Given the description of an element on the screen output the (x, y) to click on. 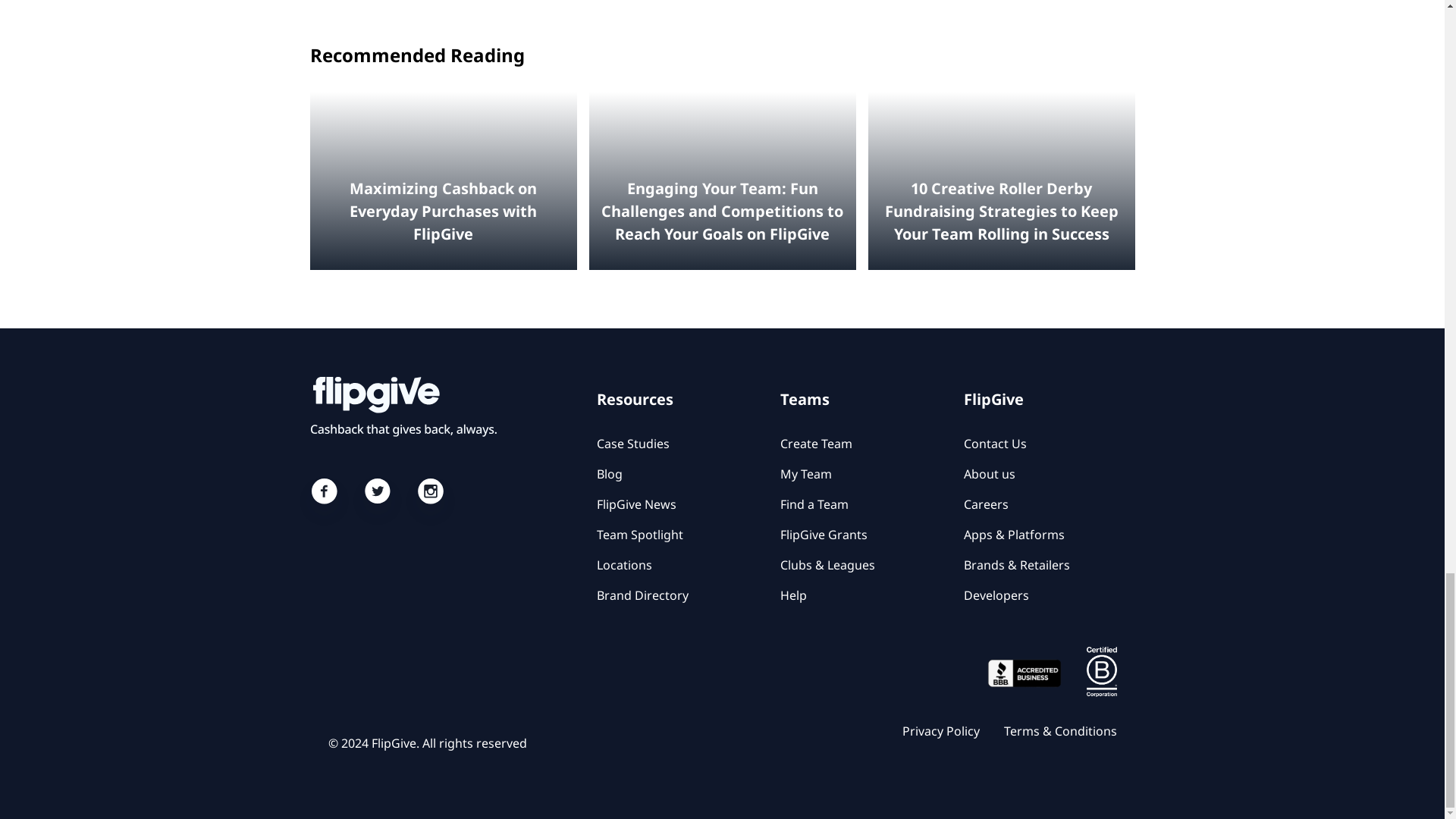
accredited business (1023, 673)
Maximizing Cashback on Everyday Purchases with FlipGive (442, 180)
Facebook (323, 501)
Instagram (430, 501)
twitter (376, 501)
FlipGive (419, 407)
certified business (1101, 672)
